Given the description of an element on the screen output the (x, y) to click on. 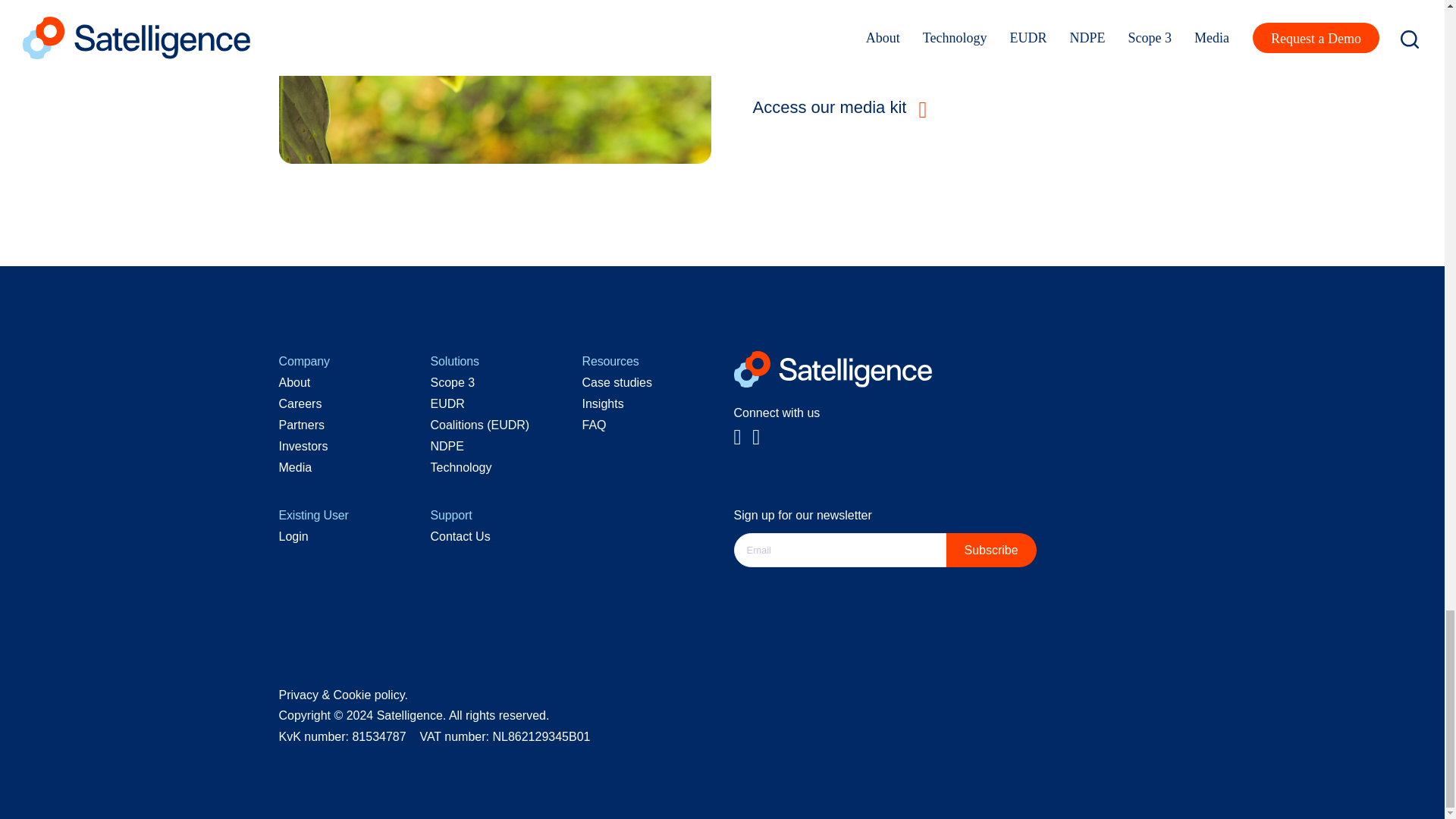
Technology (461, 467)
Access our media kit (842, 106)
Insights (603, 403)
satelligence-logo (832, 369)
FAQ (594, 424)
About (295, 382)
Media (296, 467)
EUDR (447, 403)
NDPE (447, 445)
Case studies (617, 382)
Subscribe (991, 550)
Rectangle 55 (495, 81)
Careers (300, 403)
Scope 3 (453, 382)
Partners (301, 424)
